Given the description of an element on the screen output the (x, y) to click on. 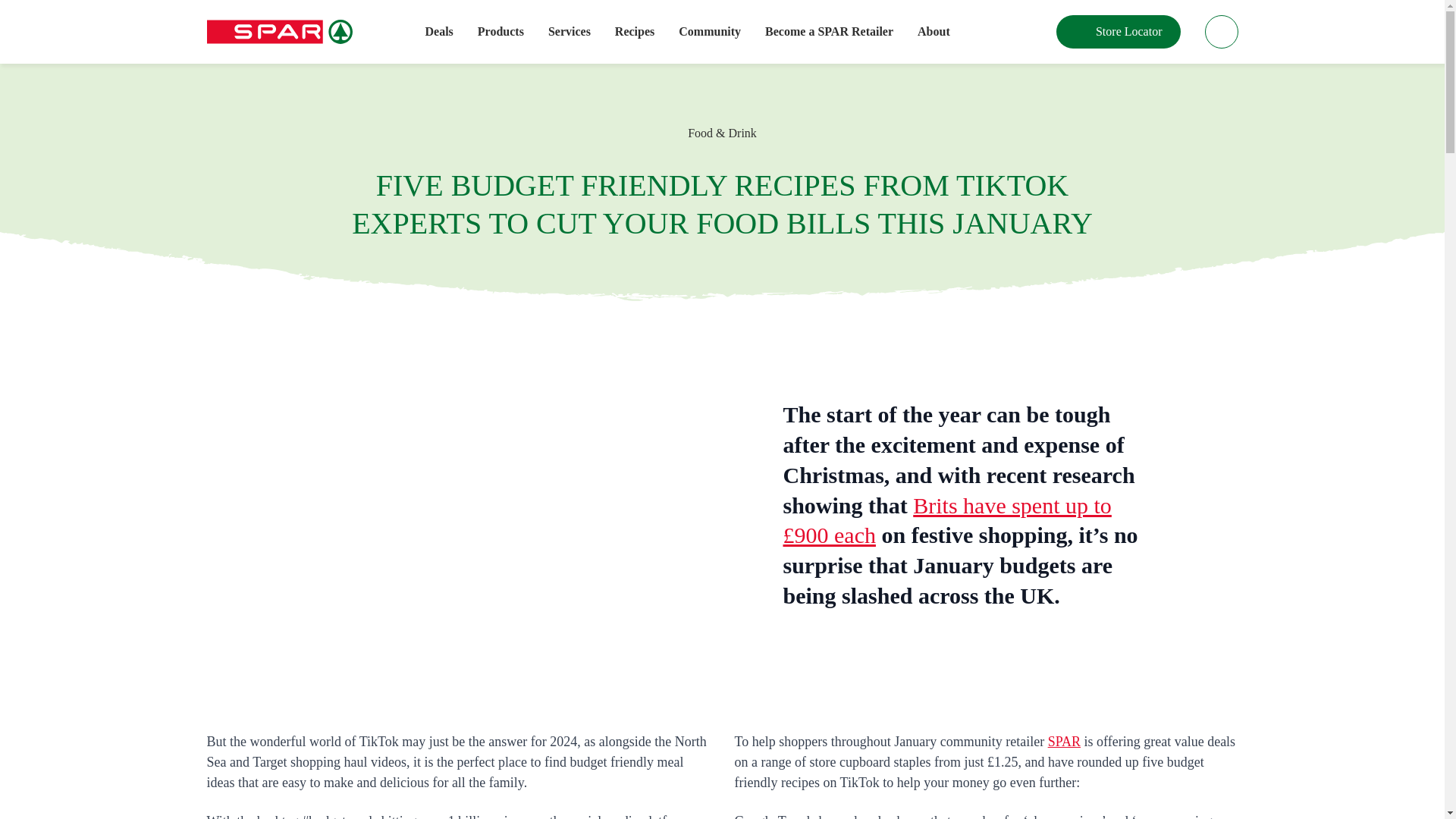
Products (500, 31)
Services (569, 31)
Community (709, 31)
Recipes (633, 31)
